Given the description of an element on the screen output the (x, y) to click on. 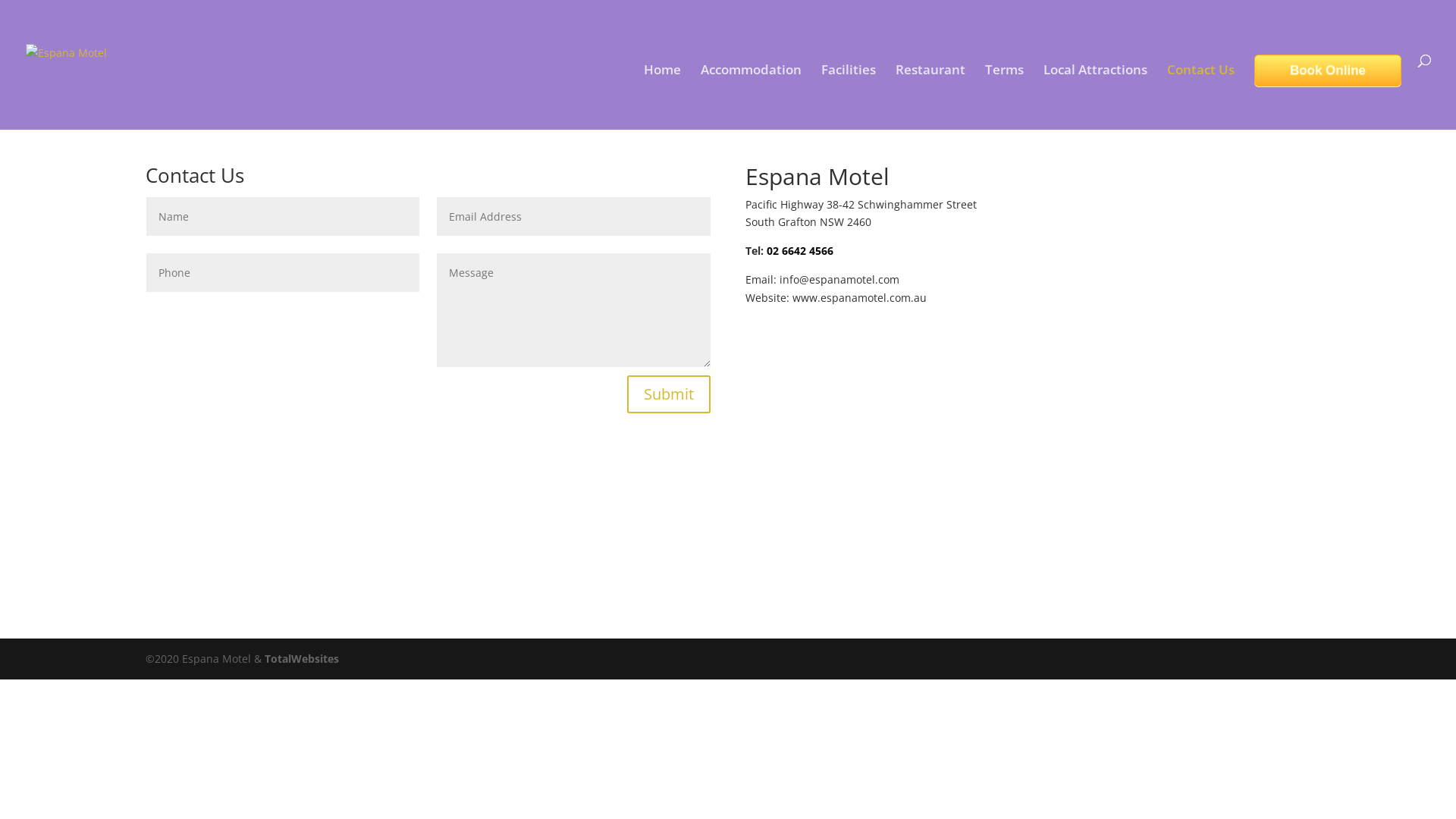
Local Attractions Element type: text (1095, 96)
02 6642 4566 Element type: text (799, 250)
Facilities Element type: text (848, 96)
Restaurant Element type: text (930, 96)
Contact Us Element type: text (1200, 96)
Accommodation Element type: text (750, 96)
Terms Element type: text (1004, 96)
Submit Element type: text (668, 394)
TotalWebsites Element type: text (301, 658)
Book Online Element type: text (1327, 70)
Home Element type: text (661, 96)
